Given the description of an element on the screen output the (x, y) to click on. 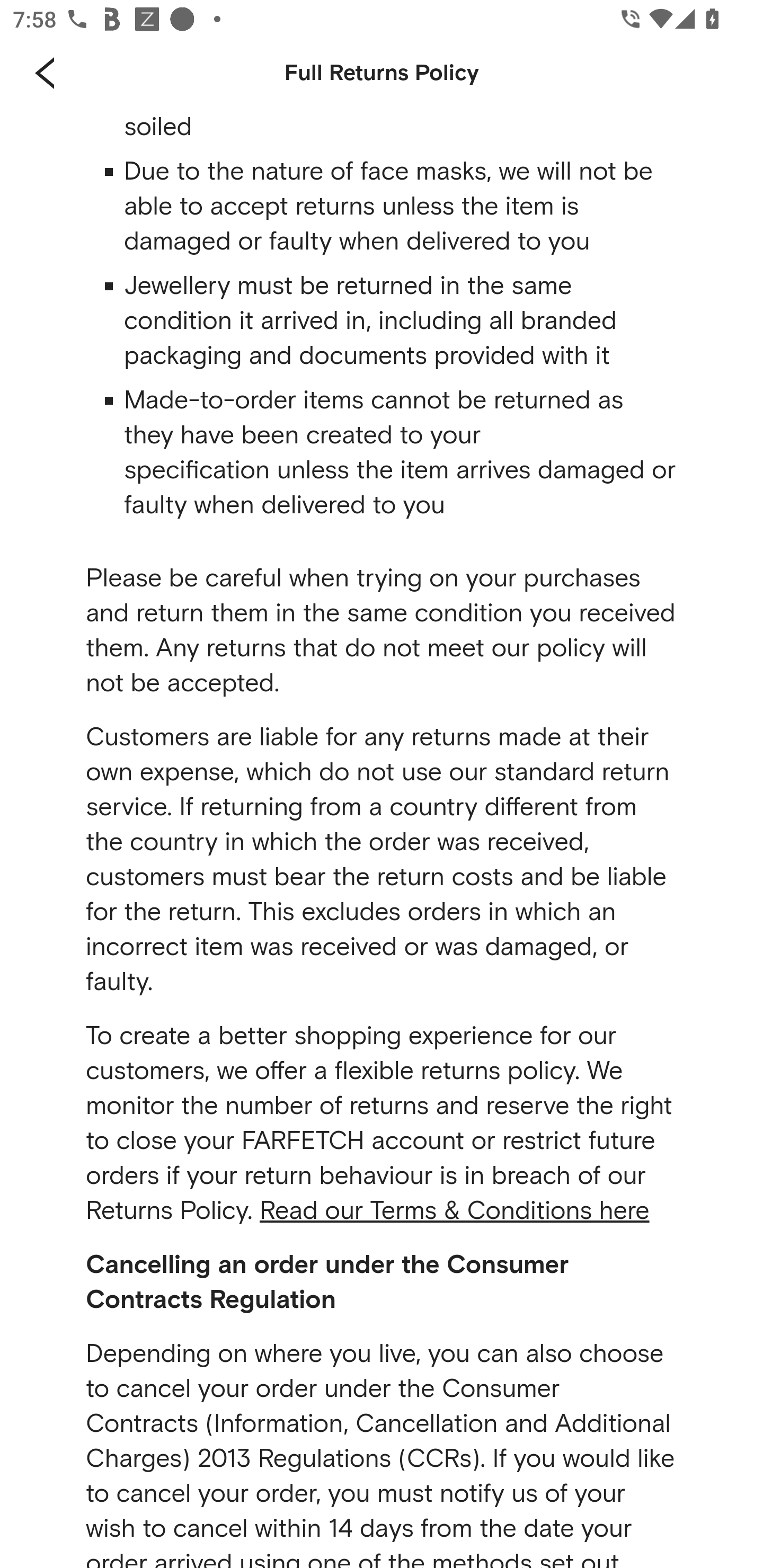
Read our Terms & Conditions here (454, 1211)
